Given the description of an element on the screen output the (x, y) to click on. 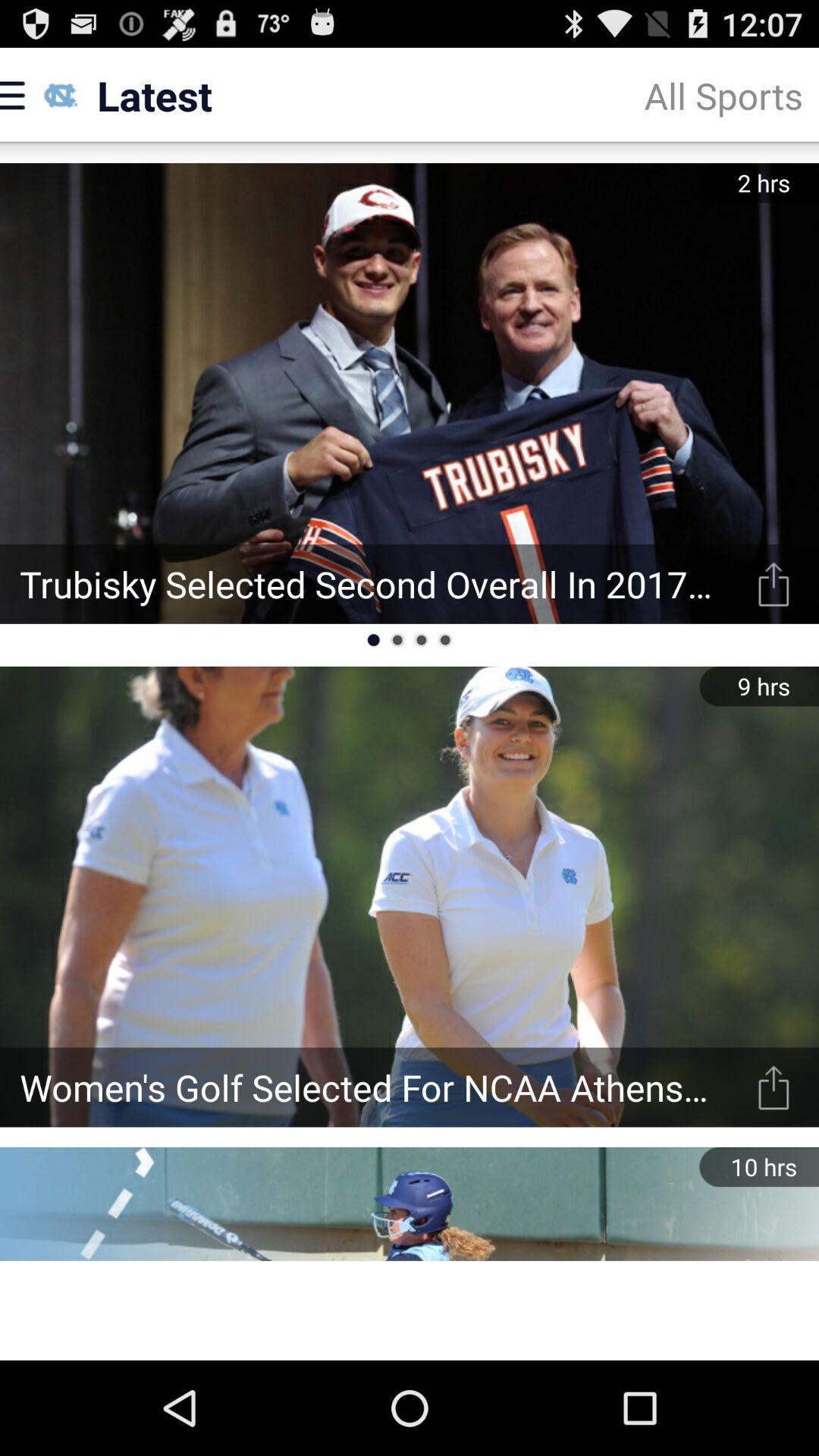
flip to all sports icon (723, 95)
